Given the description of an element on the screen output the (x, y) to click on. 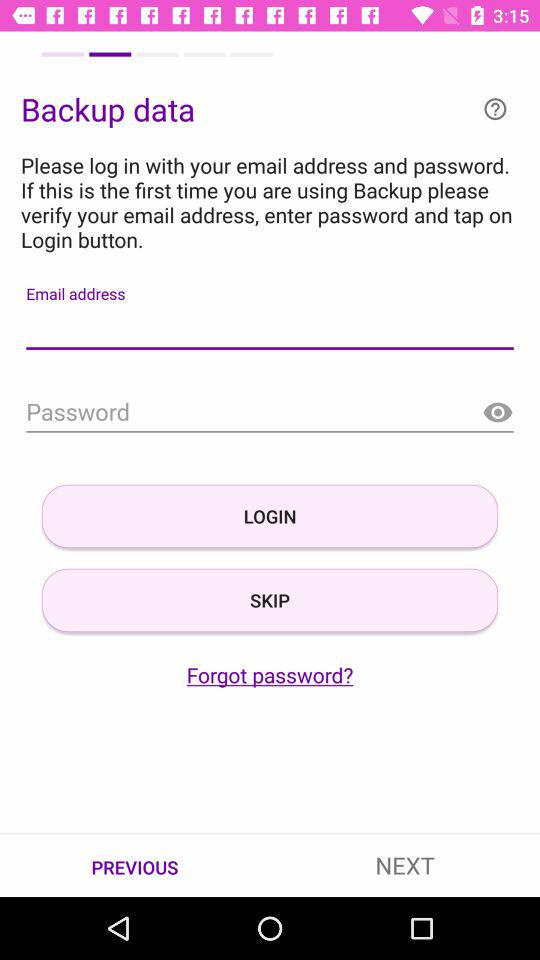
eye button (498, 412)
